Given the description of an element on the screen output the (x, y) to click on. 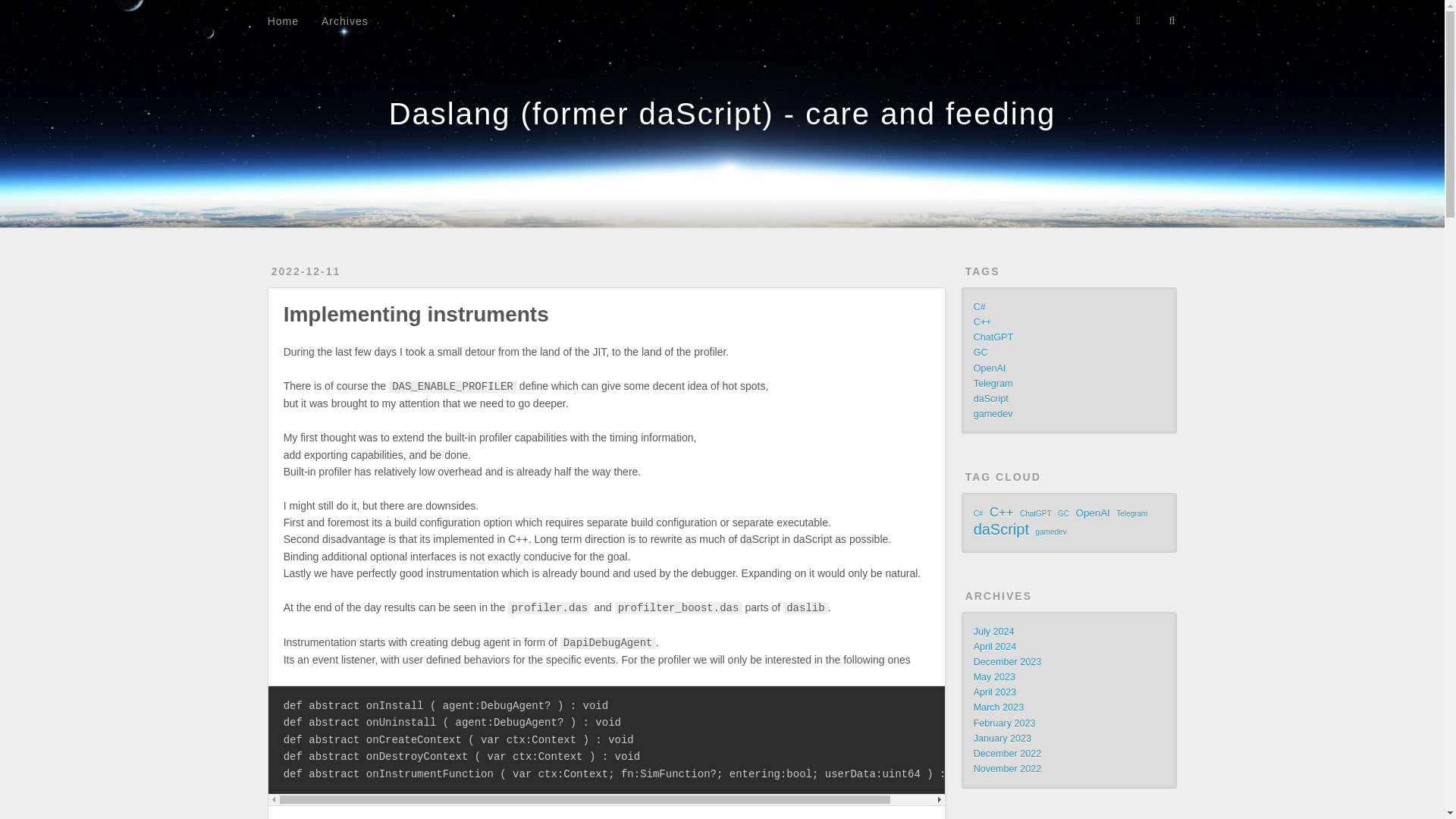
gamedev (993, 413)
Telegram (1131, 513)
2022-12-11 (305, 271)
May 2023 (994, 676)
ChatGPT (1035, 513)
April 2024 (995, 646)
February 2023 (1004, 722)
daScript (991, 398)
GC (981, 352)
January 2023 (1002, 738)
